Given the description of an element on the screen output the (x, y) to click on. 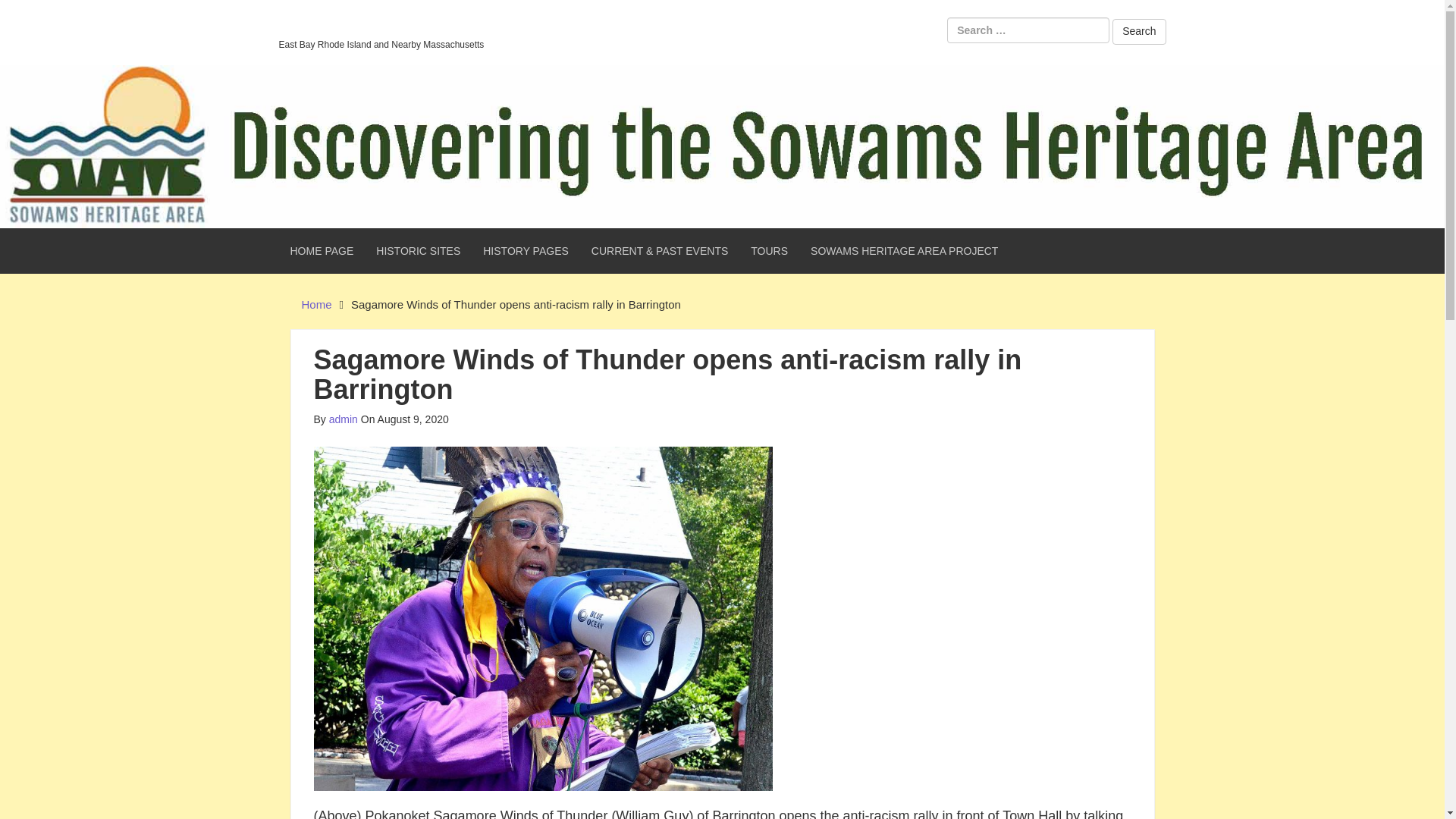
Posts by admin (343, 419)
TOURS (769, 250)
admin (343, 419)
Sowams Heritage Area (381, 25)
Search (1139, 31)
Search (1139, 31)
HISTORIC SITES (418, 250)
SOWAMS HERITAGE AREA PROJECT (904, 250)
Home (316, 304)
TOURS (769, 250)
HOME PAGE (322, 250)
Sunday, August 9, 2020, 10:22 pm (404, 419)
HISTORY PAGES (525, 250)
HOME PAGE (322, 250)
HISTORIC SITES (418, 250)
